Given the description of an element on the screen output the (x, y) to click on. 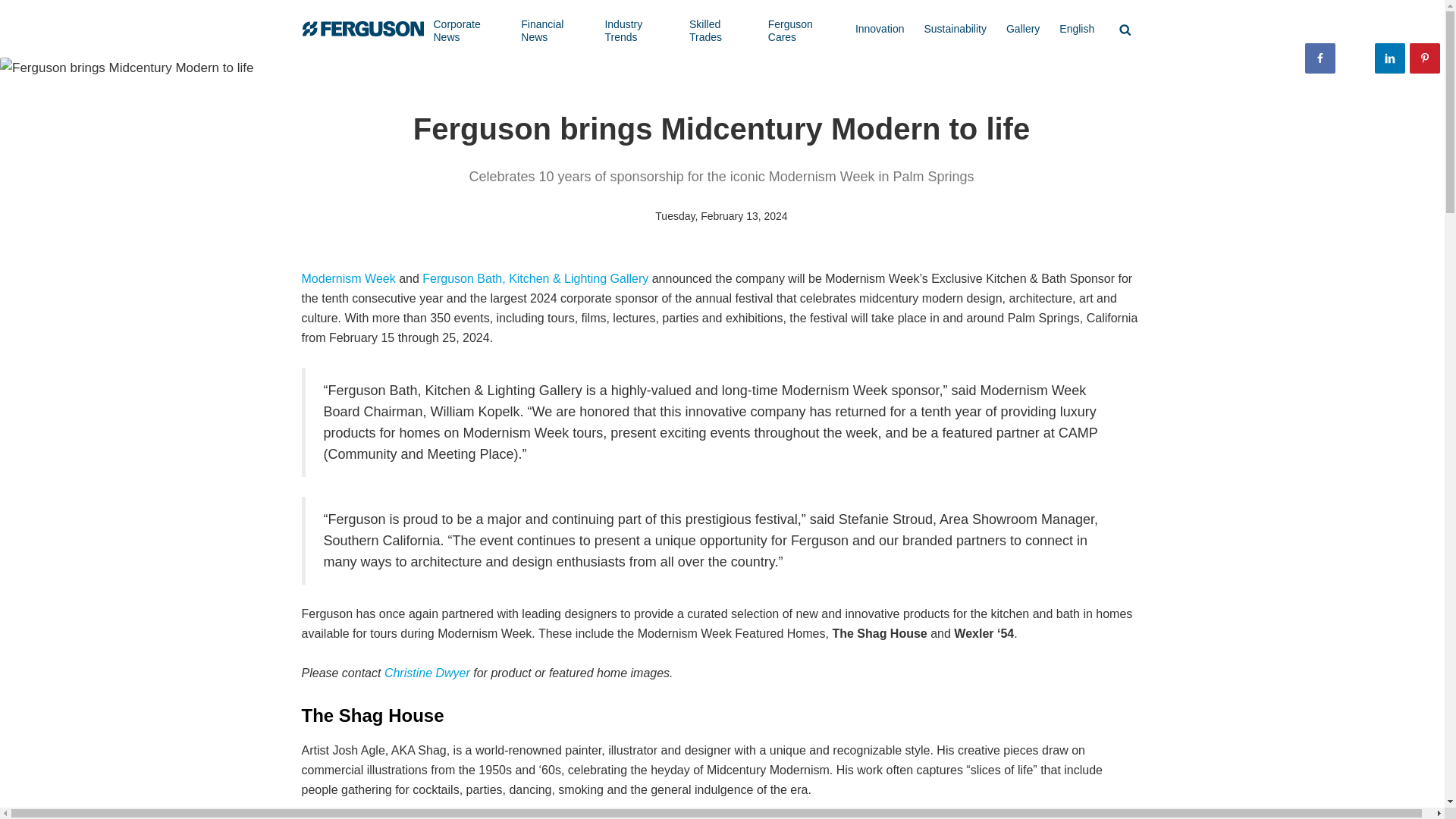
Sustainability (954, 29)
English (1076, 29)
Ferguson Cares (801, 31)
English (1076, 29)
Category: Sustainability (954, 29)
Financial News (552, 31)
Category: Skilled Trades (718, 31)
Gallery (1022, 29)
Skilled Trades (718, 31)
Gallery (1022, 29)
Category: Industry Trends (636, 31)
Category: Innovation (879, 29)
Industry Trends (636, 31)
Search in newsroom (1125, 29)
